Given the description of an element on the screen output the (x, y) to click on. 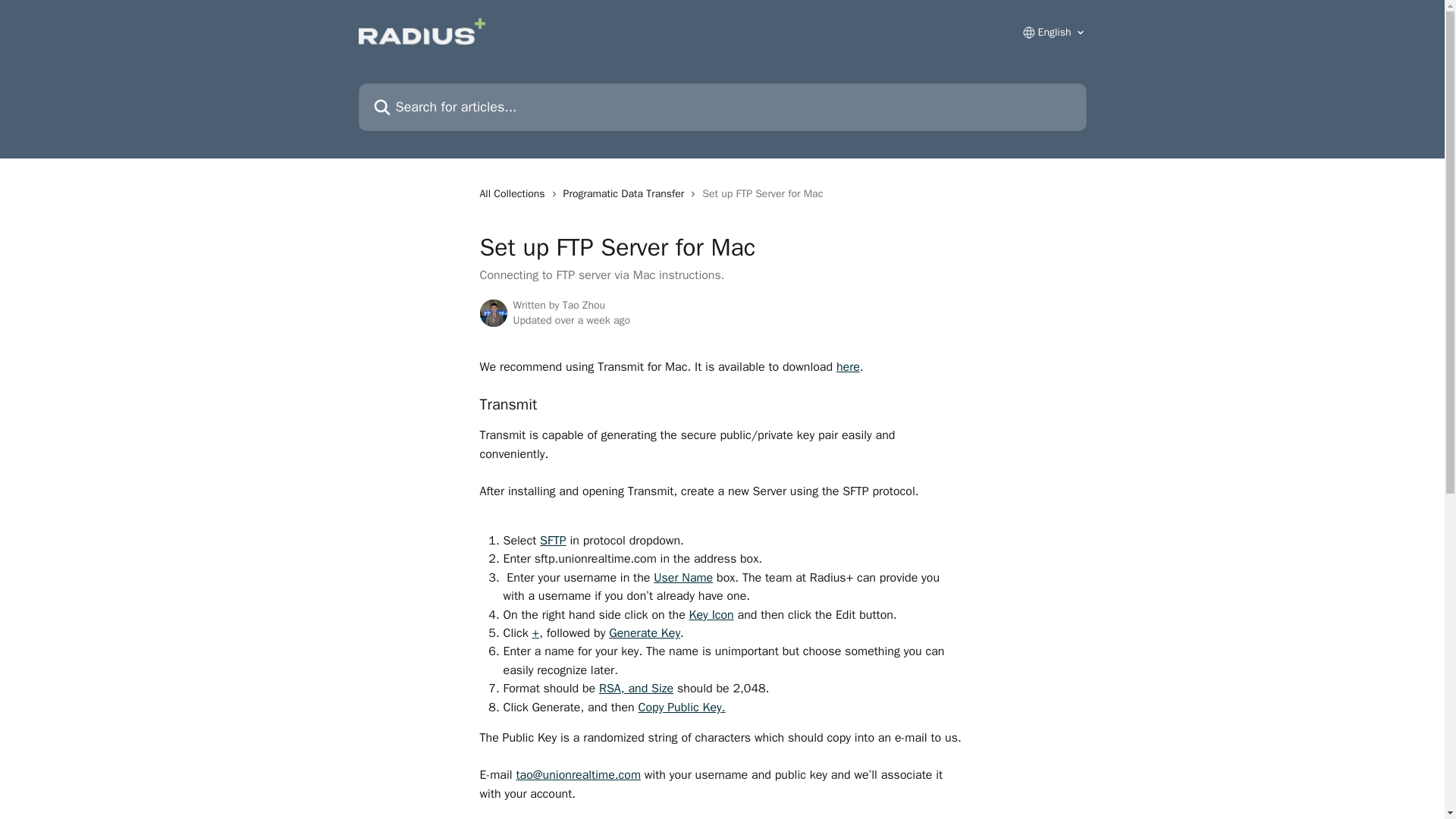
User Name (683, 577)
All Collections (514, 193)
here (847, 366)
Key Icon (710, 614)
RSA (609, 688)
Copy Public Key (678, 707)
, and Size (646, 688)
Programatic Data Transfer (626, 193)
Generate Key (643, 632)
SFTP (553, 540)
